Given the description of an element on the screen output the (x, y) to click on. 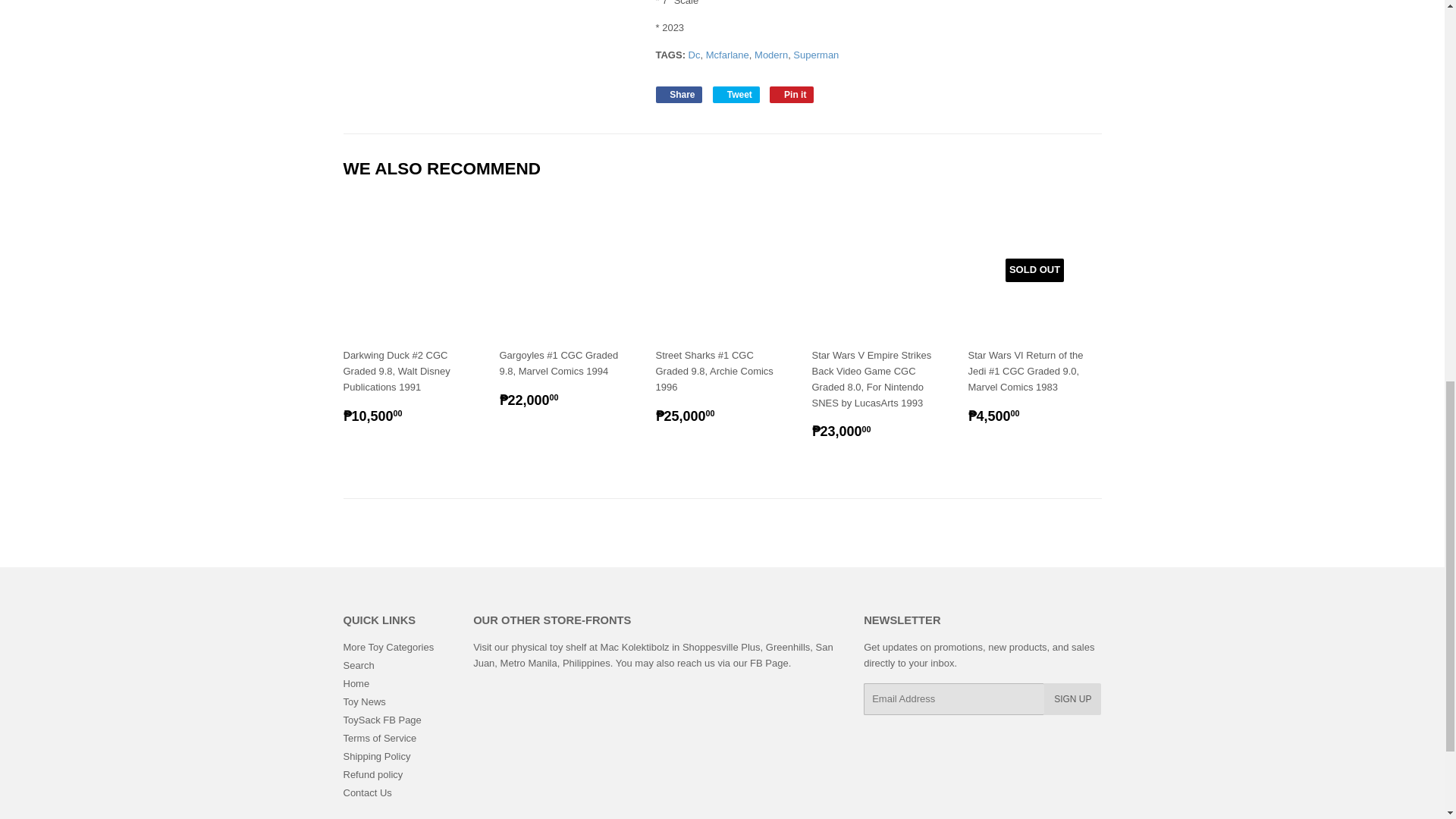
Share on Facebook (678, 94)
Tweet on Twitter (736, 94)
Pin on Pinterest (791, 94)
